Given the description of an element on the screen output the (x, y) to click on. 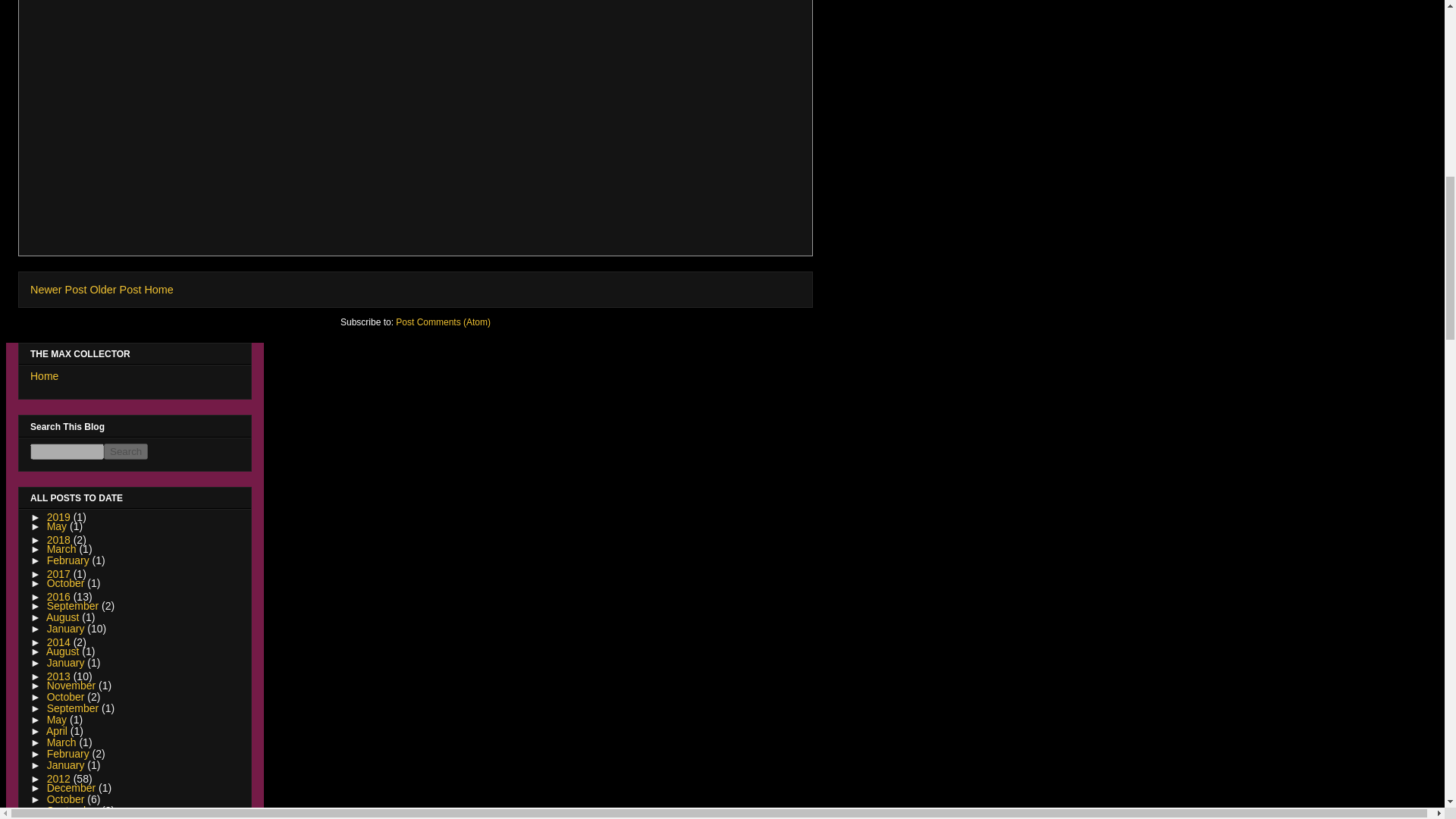
May (57, 526)
March (63, 548)
2019 (60, 517)
October (66, 582)
Older Post (114, 289)
Home (158, 289)
Search (125, 451)
Search (125, 451)
Search (125, 451)
search (66, 451)
search (125, 451)
Older Post (114, 289)
September (73, 605)
2018 (60, 539)
2016 (60, 596)
